Given the description of an element on the screen output the (x, y) to click on. 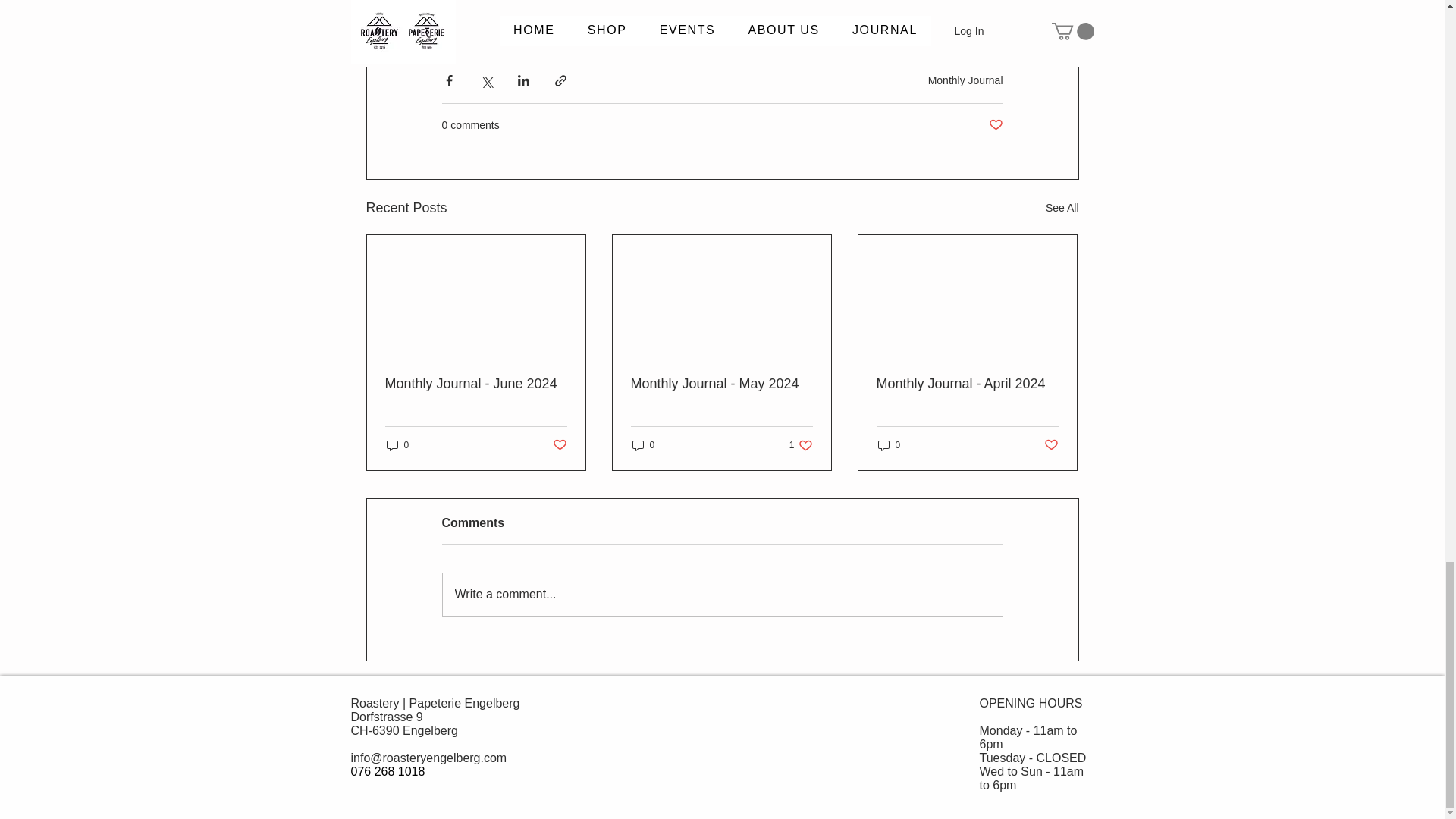
Monthly Journal - June 2024 (800, 445)
Post not marked as liked (476, 383)
Monthly Journal - May 2024 (995, 125)
0 (721, 383)
0 (643, 445)
Monthly Journal - April 2024 (397, 445)
Post not marked as liked (967, 383)
See All (558, 445)
Monthly Journal (1061, 208)
